Given the description of an element on the screen output the (x, y) to click on. 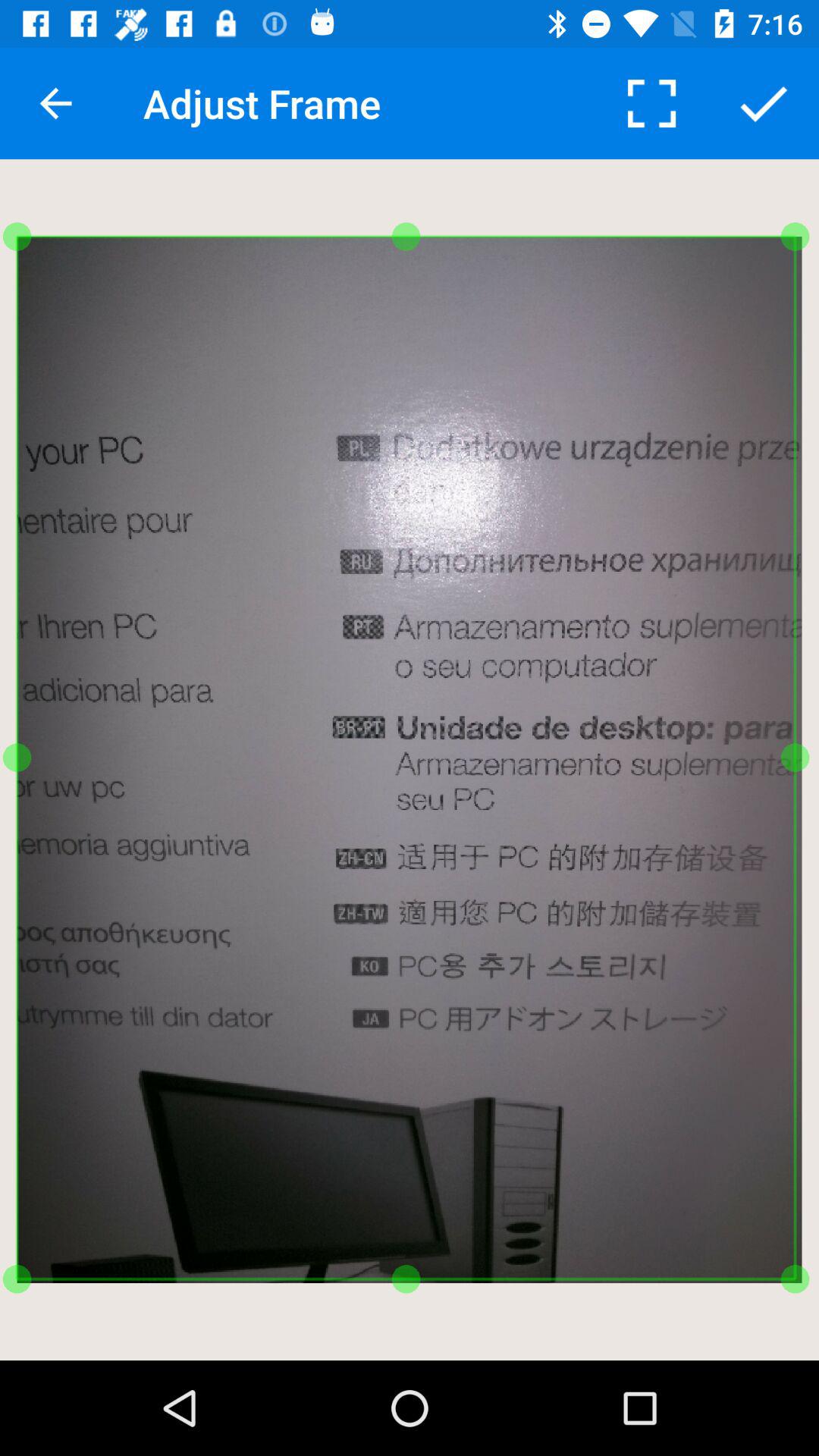
open item to the right of the adjust frame (651, 103)
